Given the description of an element on the screen output the (x, y) to click on. 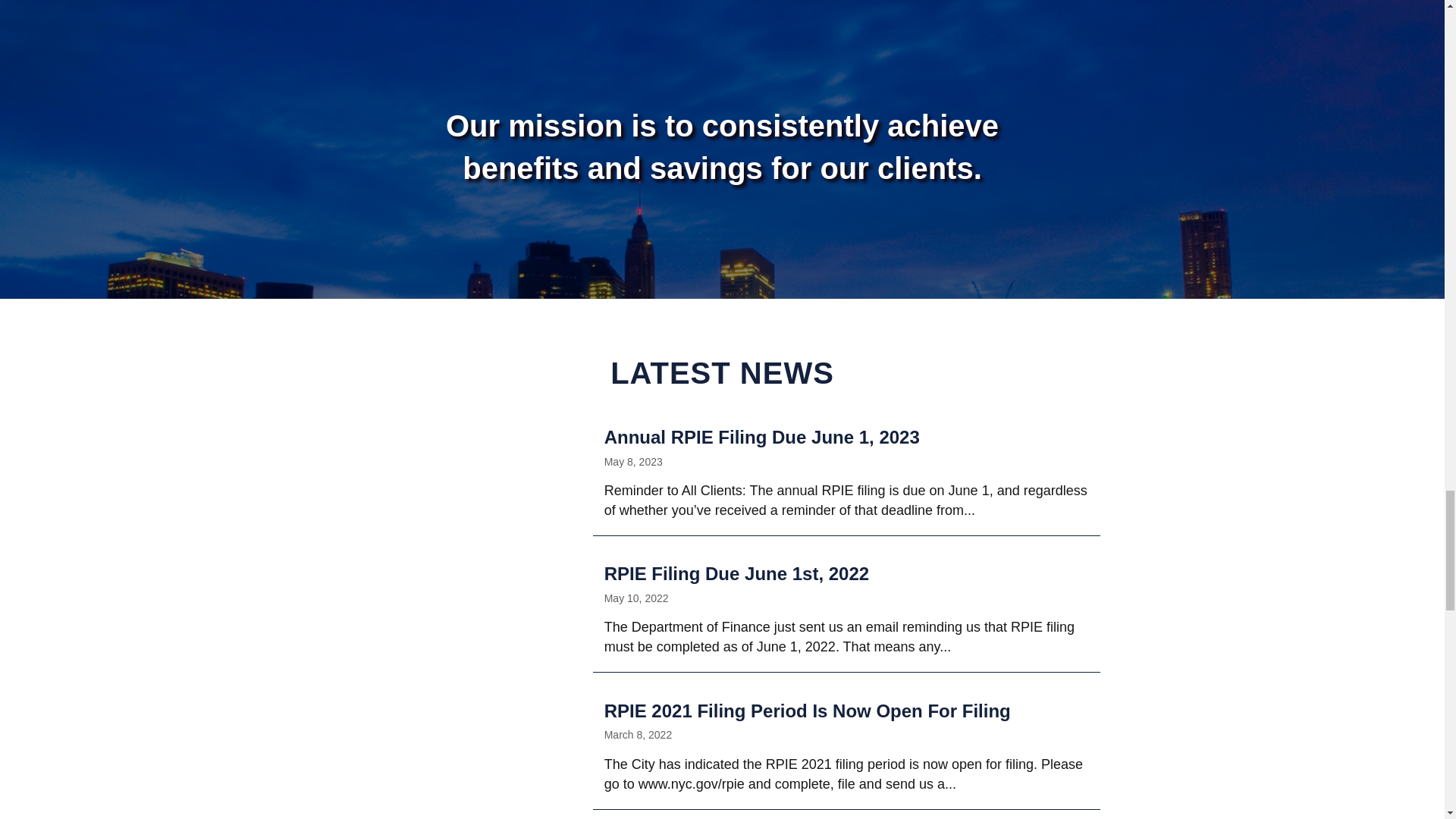
RPIE Filing Due June 1st, 2022 (846, 608)
Annual RPIE Filing Due June 1, 2023 (846, 472)
RPIE 2021 Filing Period Is Now Open For Filing (846, 746)
blueprint (448, 538)
